Given the description of an element on the screen output the (x, y) to click on. 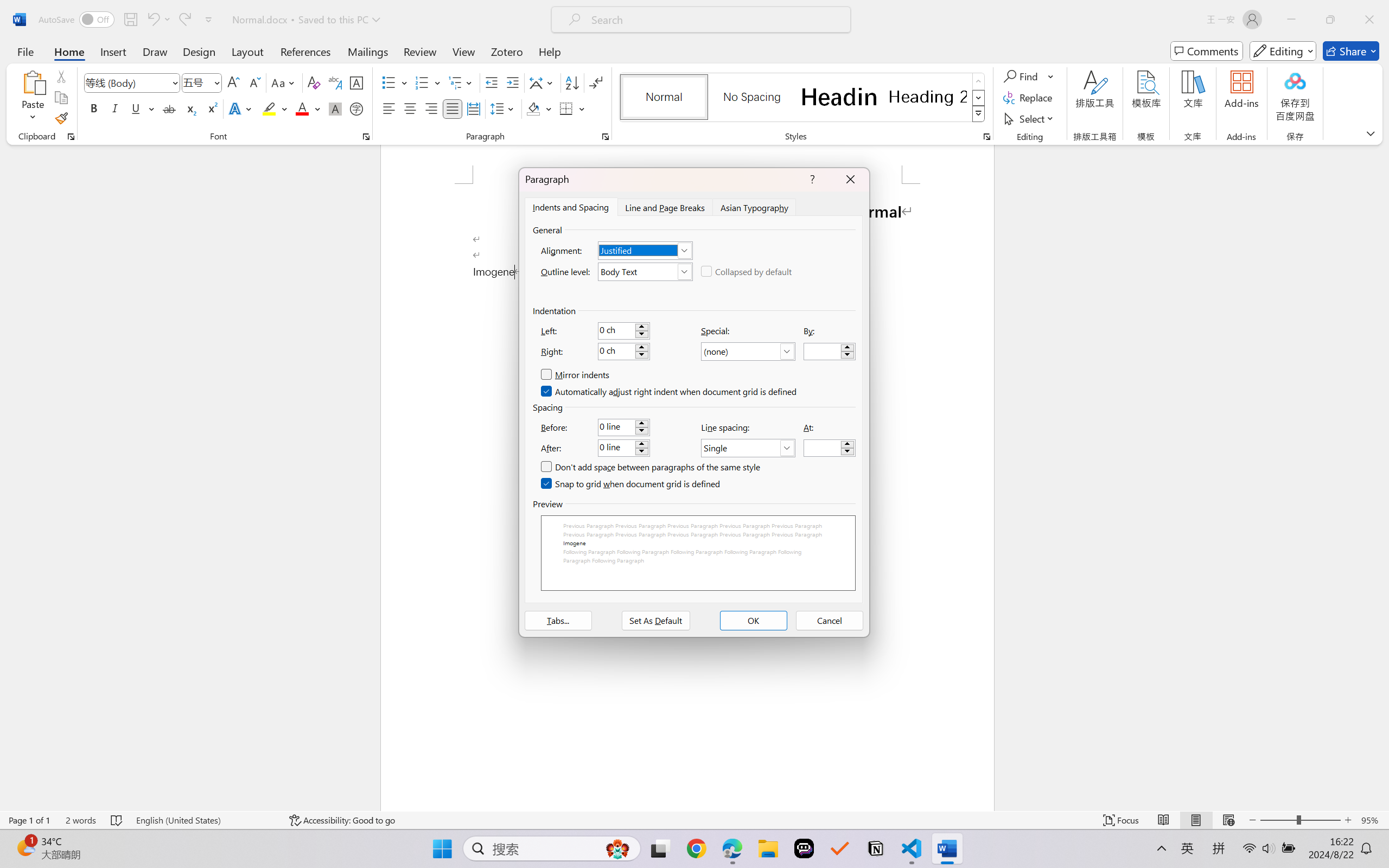
Asian Typography (754, 206)
Enclose Characters... (356, 108)
Text Highlight Color Yellow (269, 108)
Shading (539, 108)
Center (409, 108)
Subscript (190, 108)
After: (623, 447)
Right: (623, 351)
Office Clipboard... (70, 136)
Special: (748, 351)
